Given the description of an element on the screen output the (x, y) to click on. 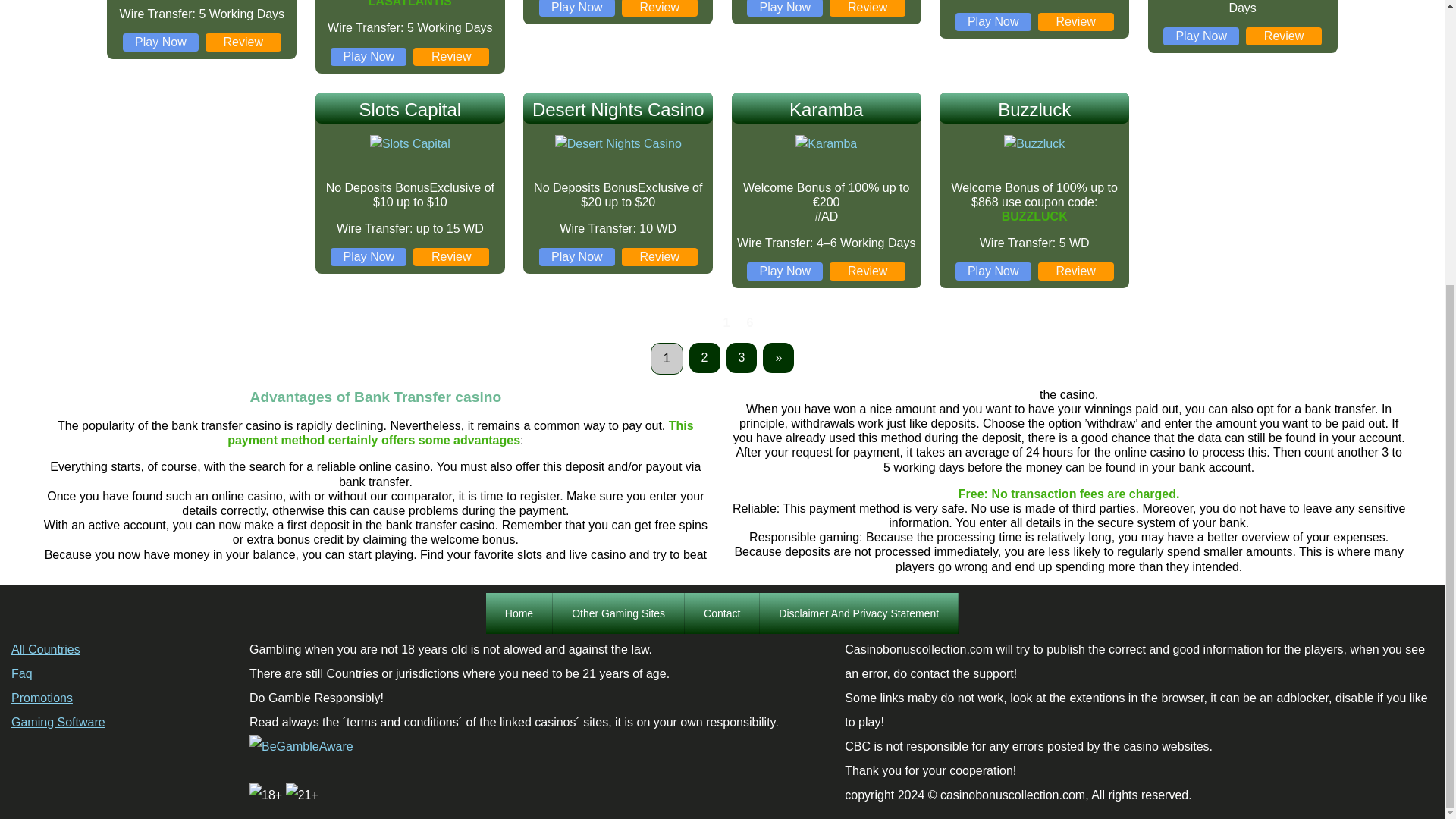
BeGambleAware (300, 746)
Home (518, 612)
Disclaimer And Privacy Statement (859, 612)
BeGambleAware (300, 746)
Links (618, 612)
